Given the description of an element on the screen output the (x, y) to click on. 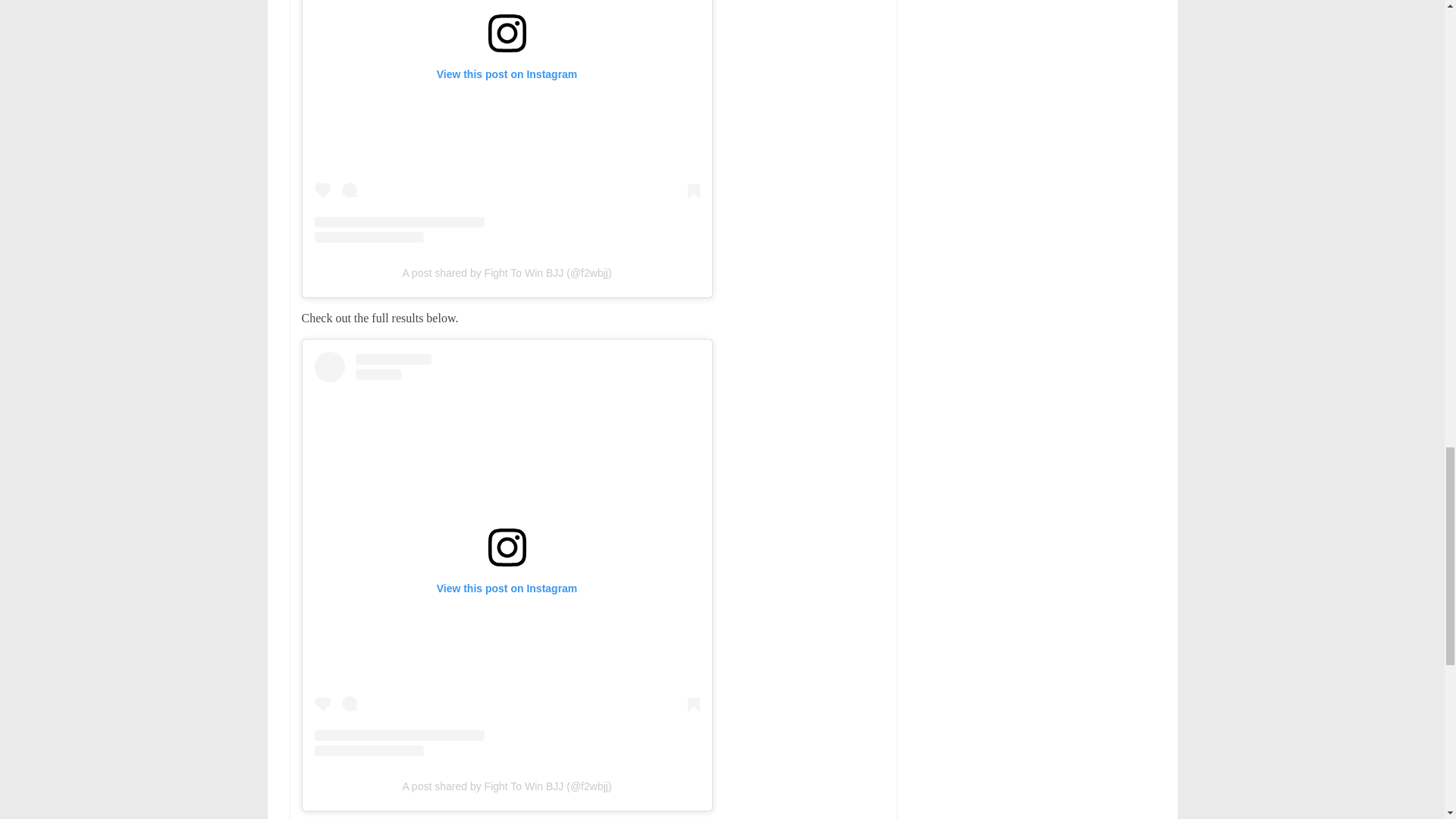
View this post on Instagram (506, 121)
